Given the description of an element on the screen output the (x, y) to click on. 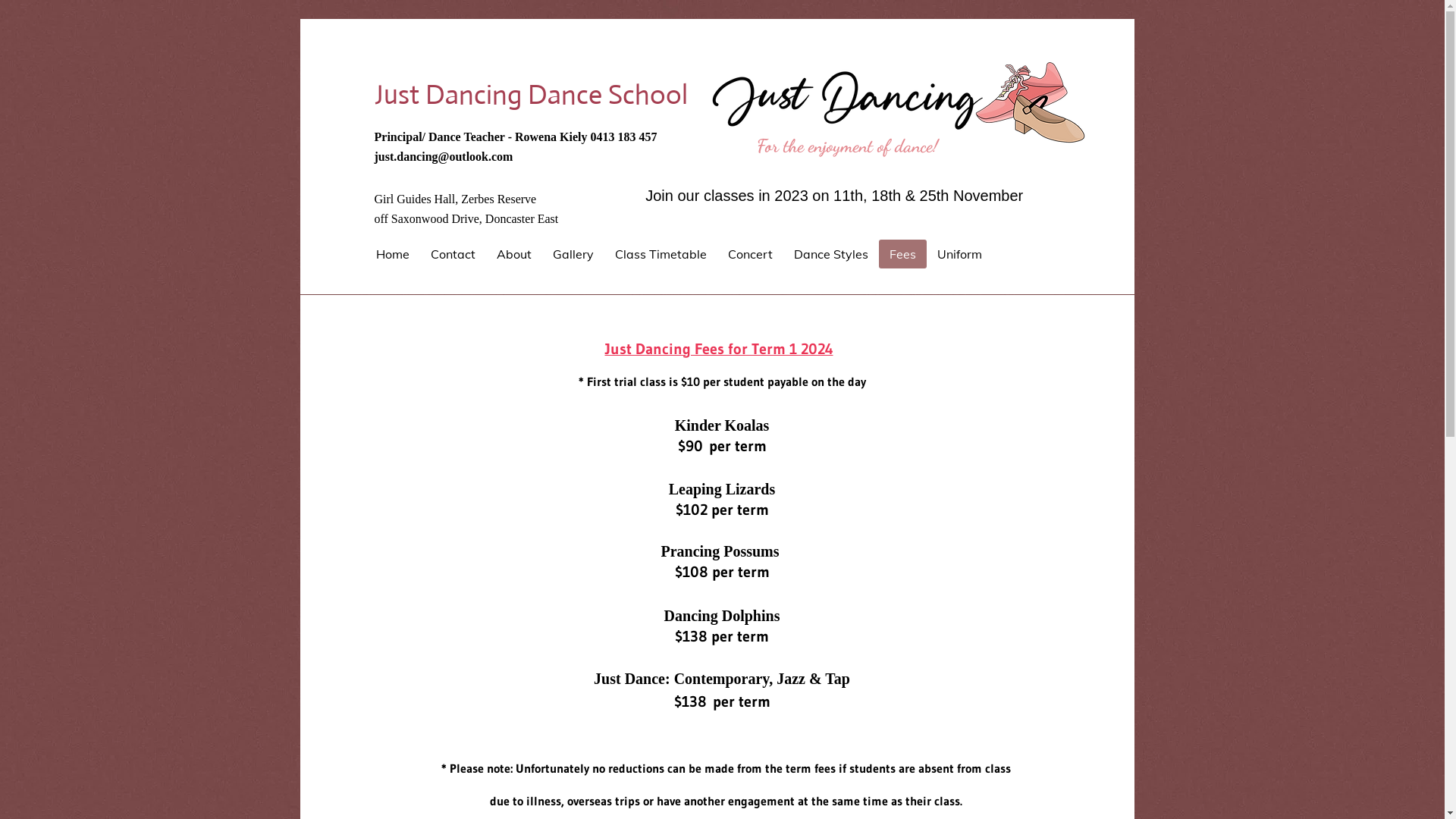
Concert Element type: text (750, 253)
About Element type: text (513, 253)
Uniform Element type: text (959, 253)
Fees Element type: text (901, 253)
Gallery Element type: text (572, 253)
Class Timetable Element type: text (659, 253)
Home Element type: text (392, 253)
Contact Element type: text (453, 253)
Dance Styles Element type: text (830, 253)
just.dancing@outlook.com Element type: text (443, 156)
